Given the description of an element on the screen output the (x, y) to click on. 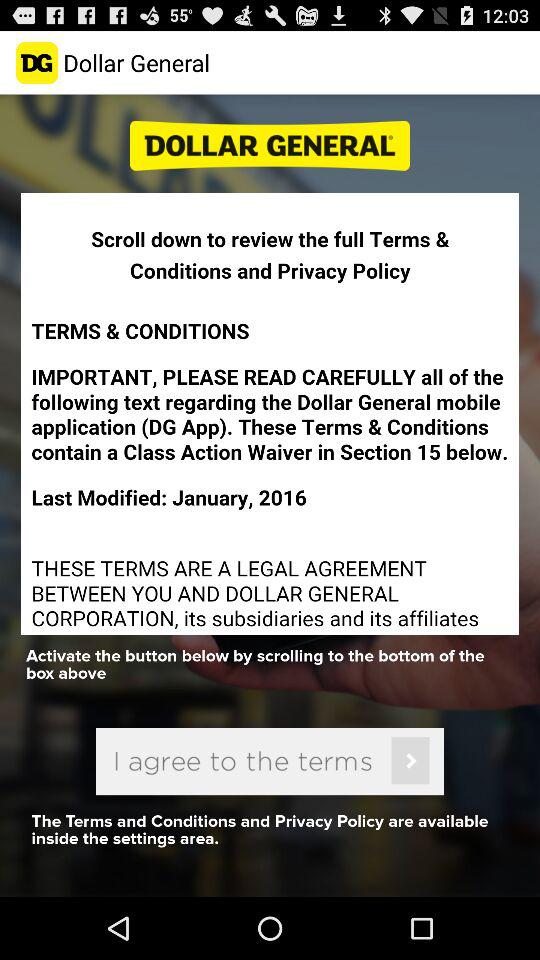
term agreement tab (270, 761)
